Given the description of an element on the screen output the (x, y) to click on. 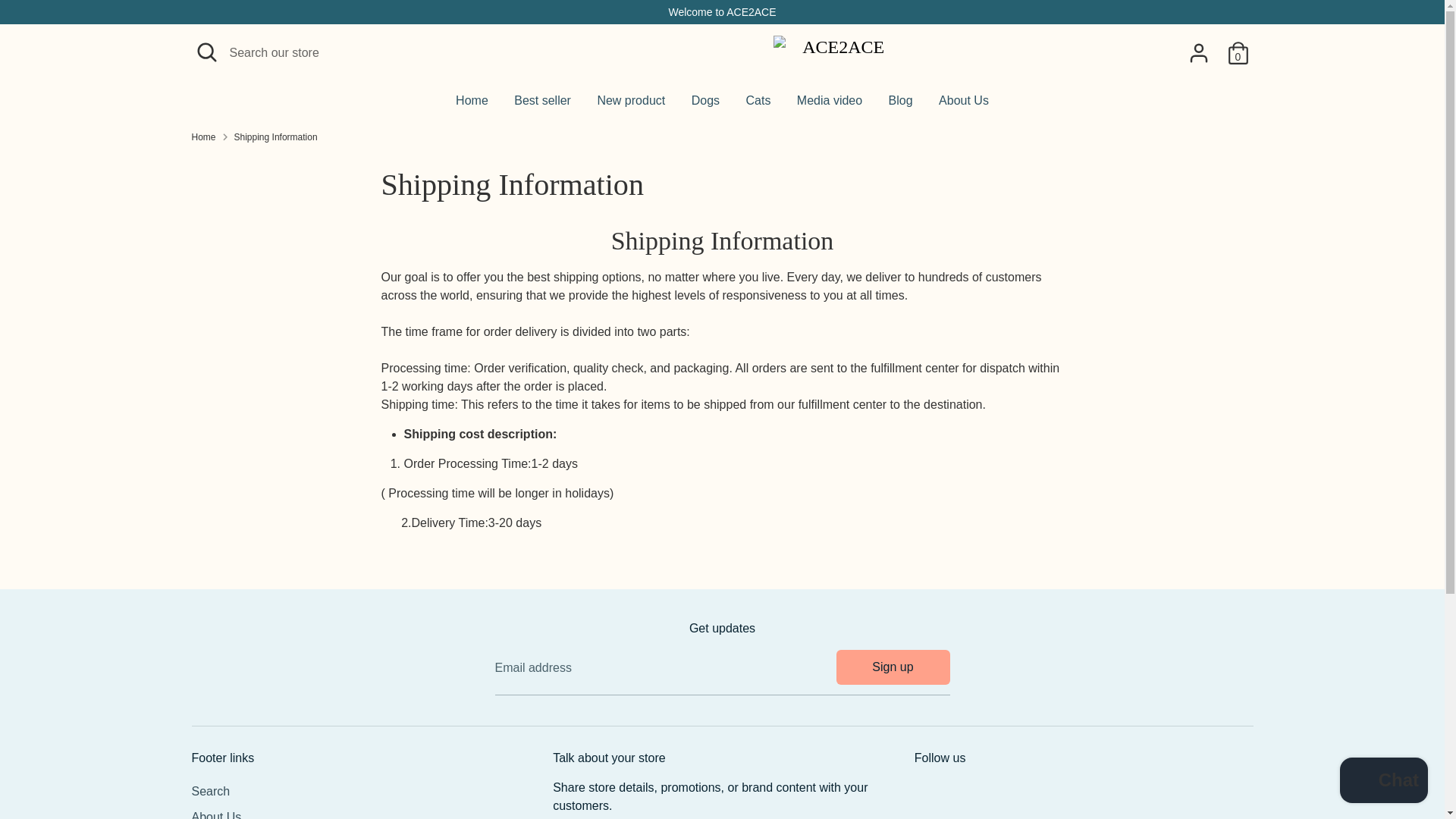
Cats (757, 104)
Blog (900, 104)
Dogs (704, 104)
About Us (963, 104)
Best seller (542, 104)
Media video (829, 104)
New product (631, 104)
0 (1237, 52)
Home (471, 104)
Shopify online store chat (1383, 781)
